Given the description of an element on the screen output the (x, y) to click on. 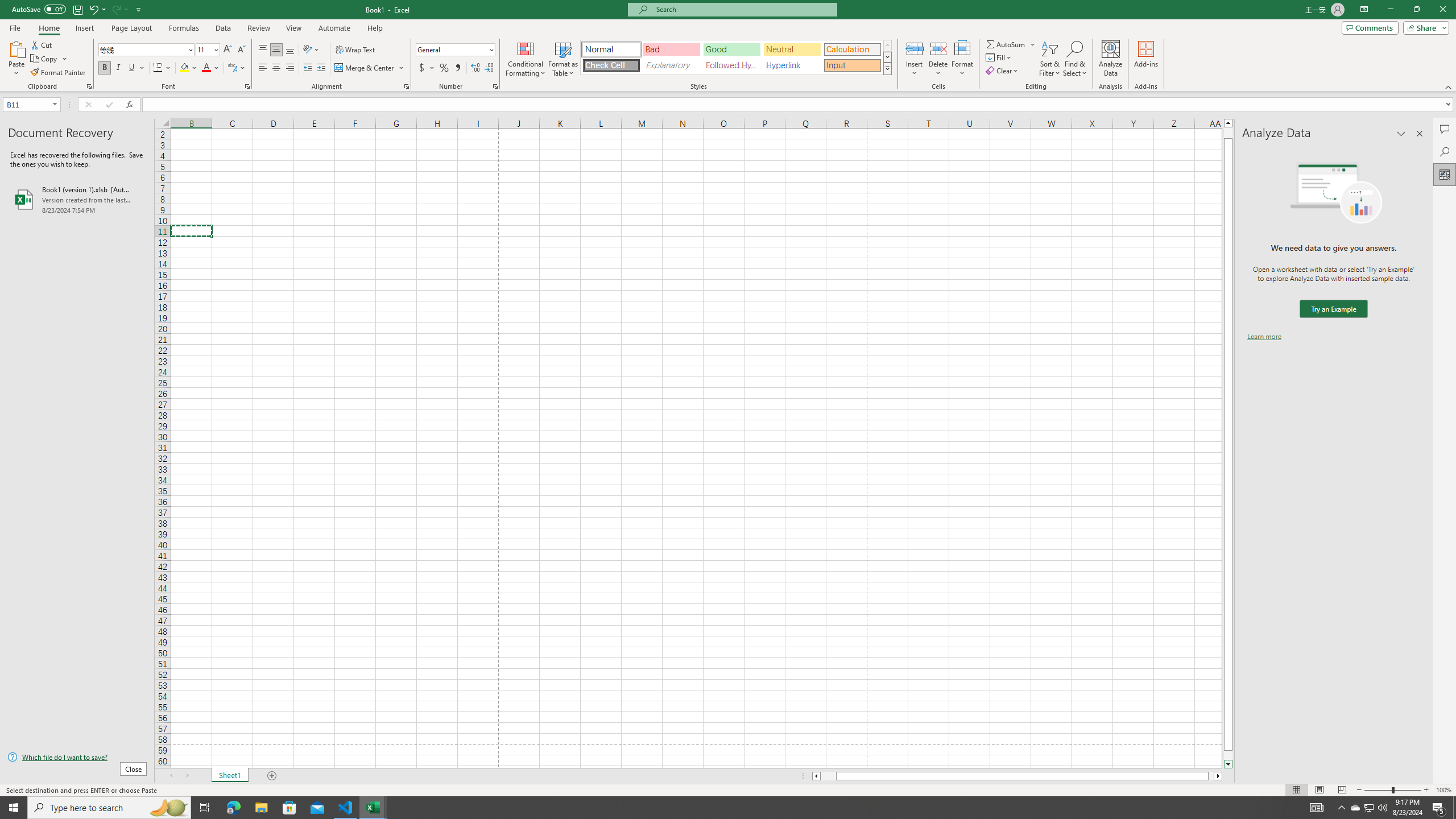
Format Cell Alignment (405, 85)
Calculation (852, 49)
Neutral (791, 49)
Decrease Decimal (489, 67)
Accounting Number Format (422, 67)
Number Format (451, 49)
Format Painter (58, 72)
AutoSum (1011, 44)
Increase Indent (320, 67)
